Given the description of an element on the screen output the (x, y) to click on. 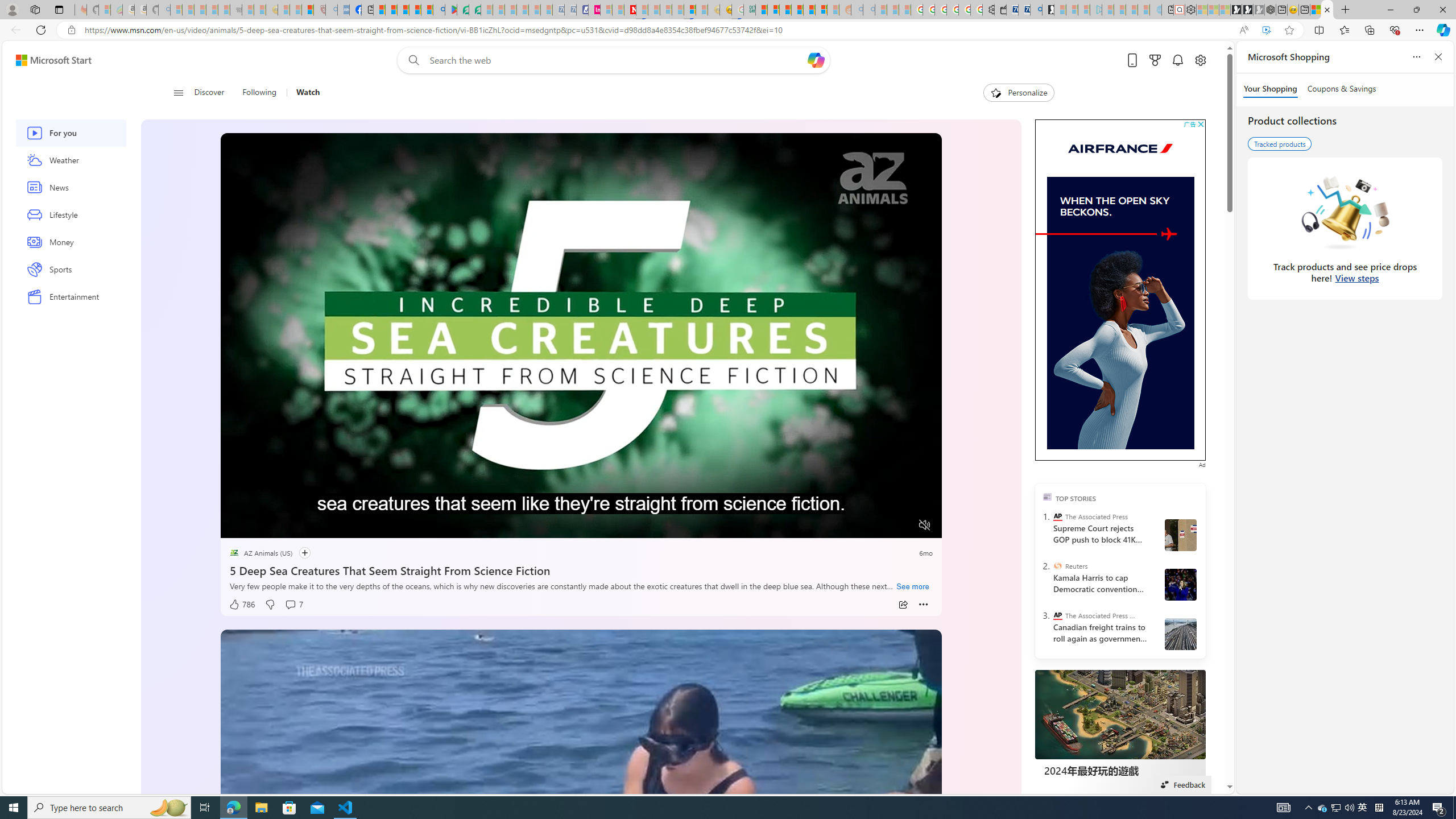
Home | Sky Blue Bikes - Sky Blue Bikes - Sleeping (1155, 9)
Jobs - lastminute.com Investor Portal (594, 9)
Trusted Community Engagement and Contributions | Guidelines (641, 9)
placeholder AZ Animals (US) (261, 552)
 Harris and Walz campaign in Wisconsin (1180, 584)
Microsoft rewards (1154, 60)
DITOGAMES AG Imprint (749, 9)
google - Search (438, 9)
